Given the description of an element on the screen output the (x, y) to click on. 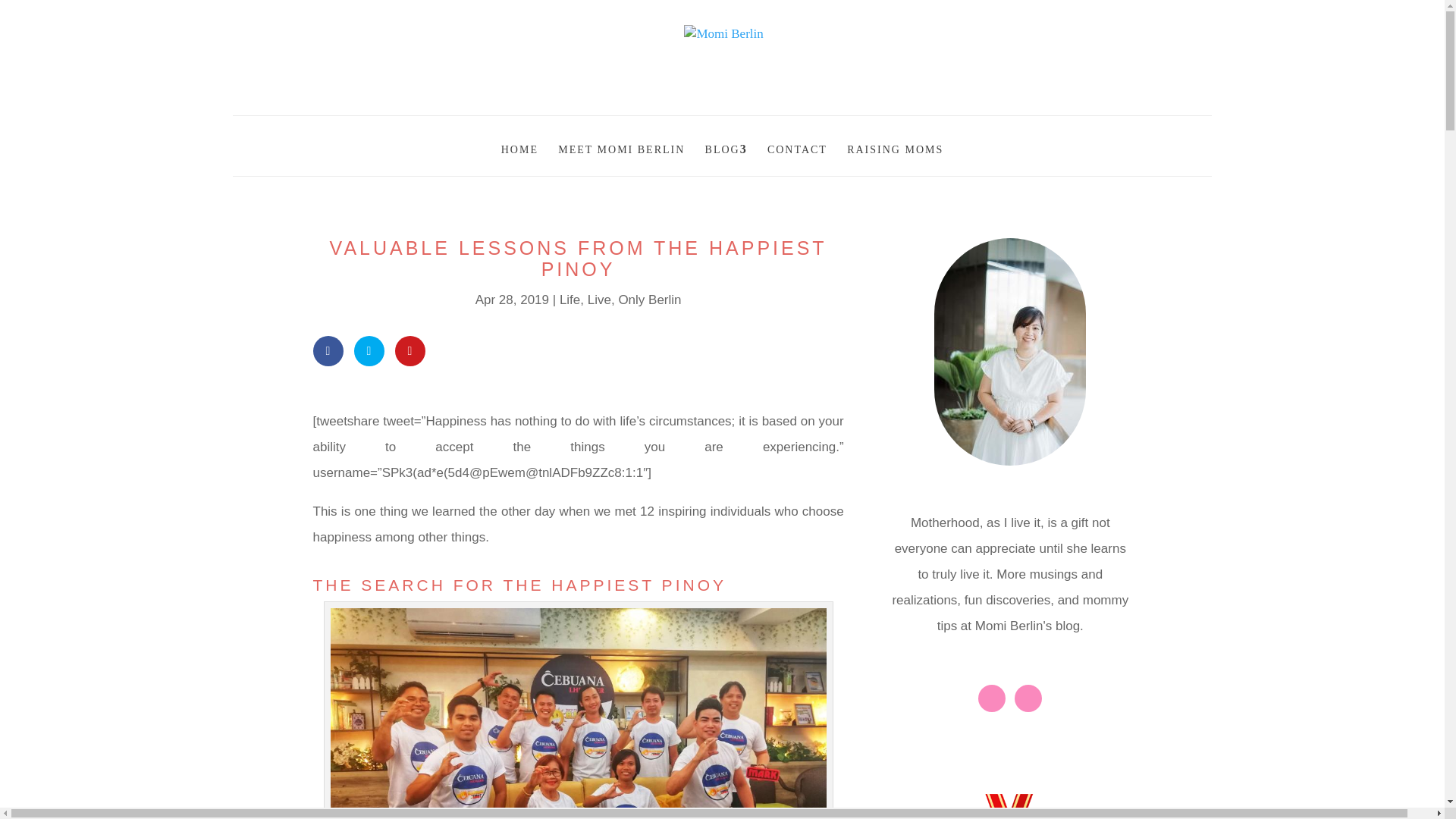
CONTACT (797, 146)
Life (569, 299)
RAISING MOMS (895, 146)
Only Berlin (649, 299)
Live (599, 299)
MEET MOMI BERLIN (620, 146)
